Given the description of an element on the screen output the (x, y) to click on. 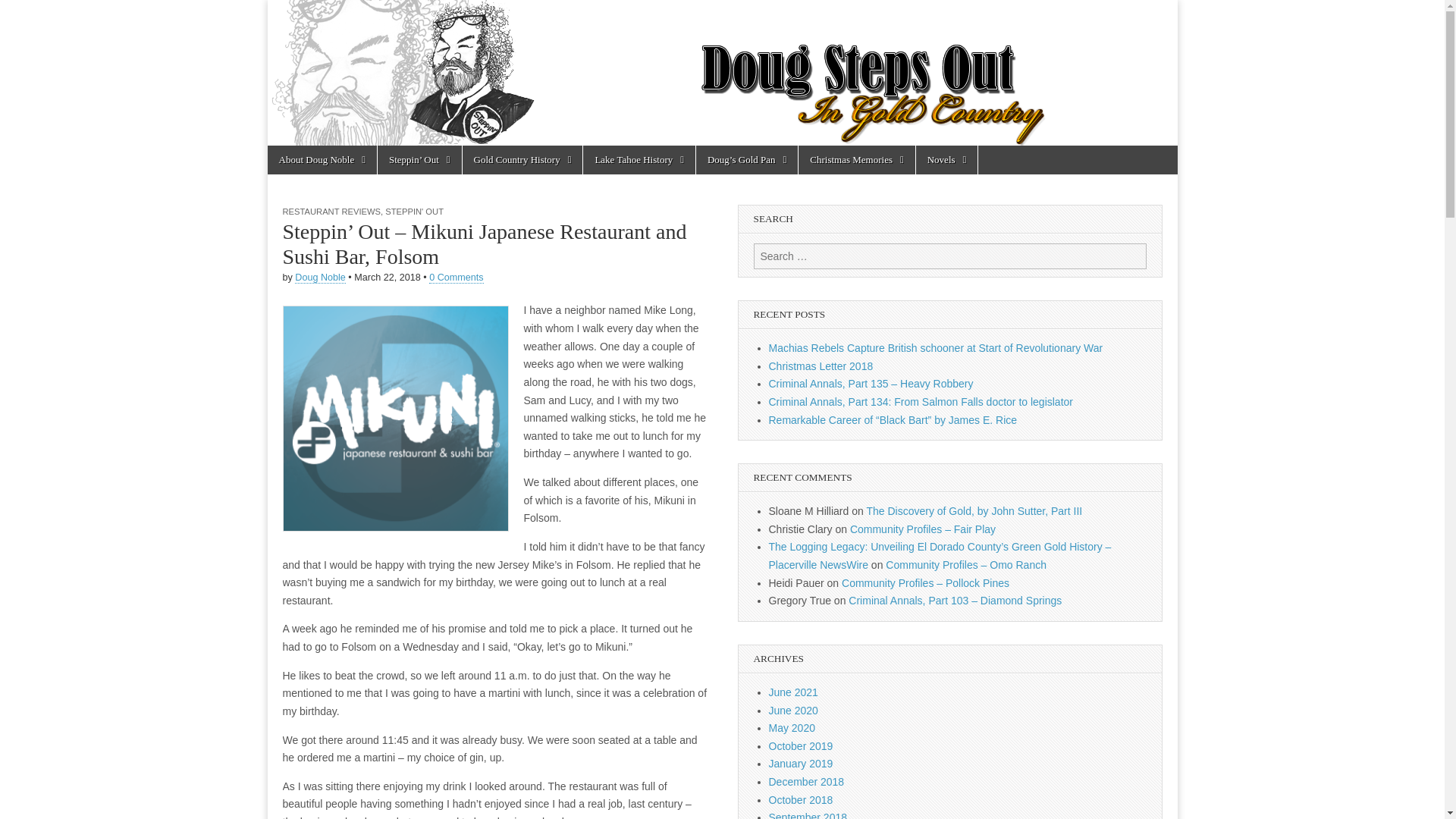
About Doug Noble (320, 159)
Gold Country History (523, 159)
Lake Tahoe History (639, 159)
Doug Noble (320, 277)
Novels (946, 159)
Doug Steps Out (721, 72)
Christmas Memories (855, 159)
STEPPIN' OUT (414, 211)
RESTAURANT REVIEWS (331, 211)
0 Comments (456, 277)
Posts by Doug Noble (320, 277)
